Given the description of an element on the screen output the (x, y) to click on. 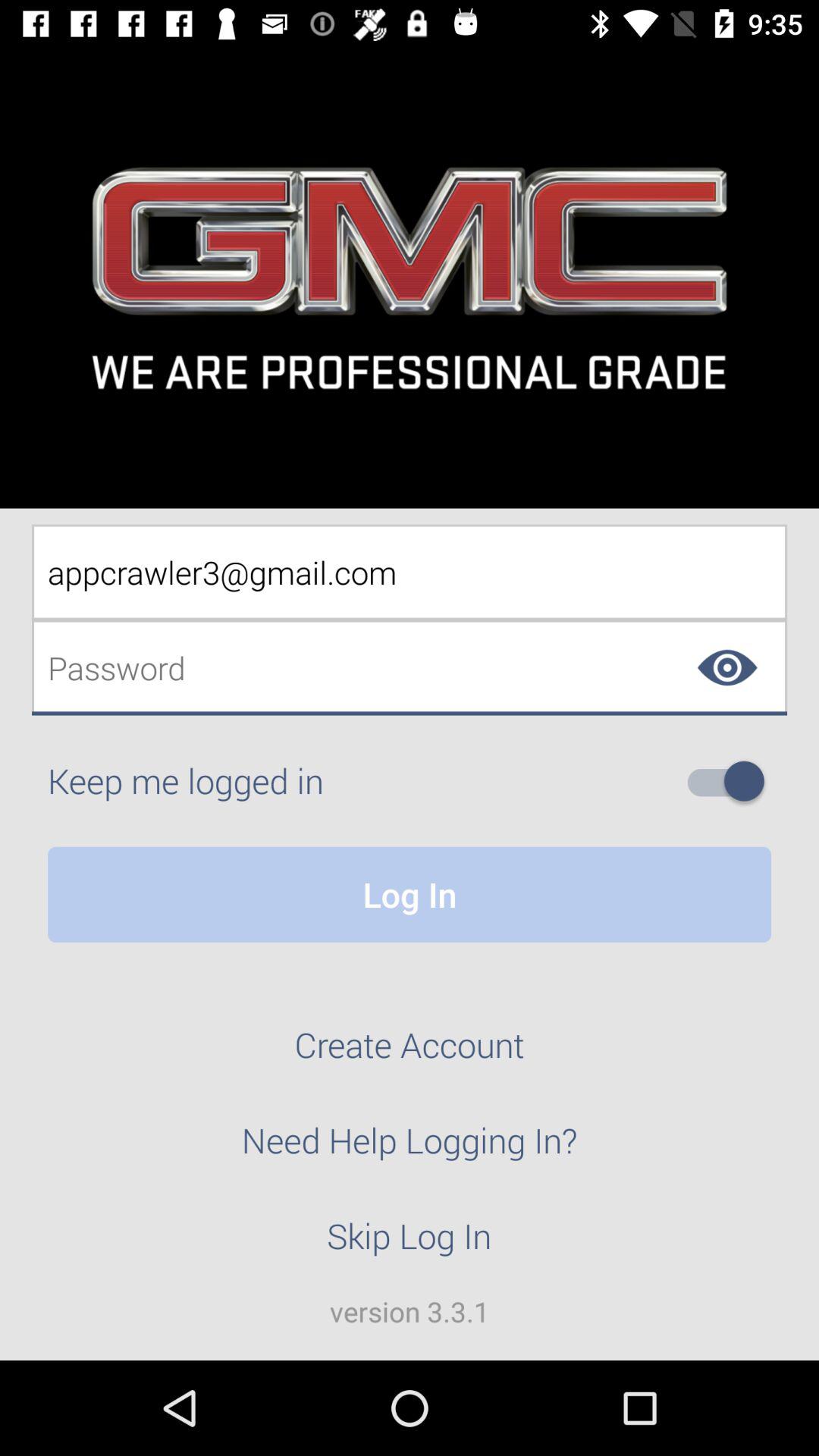
on off toggle (731, 781)
